Given the description of an element on the screen output the (x, y) to click on. 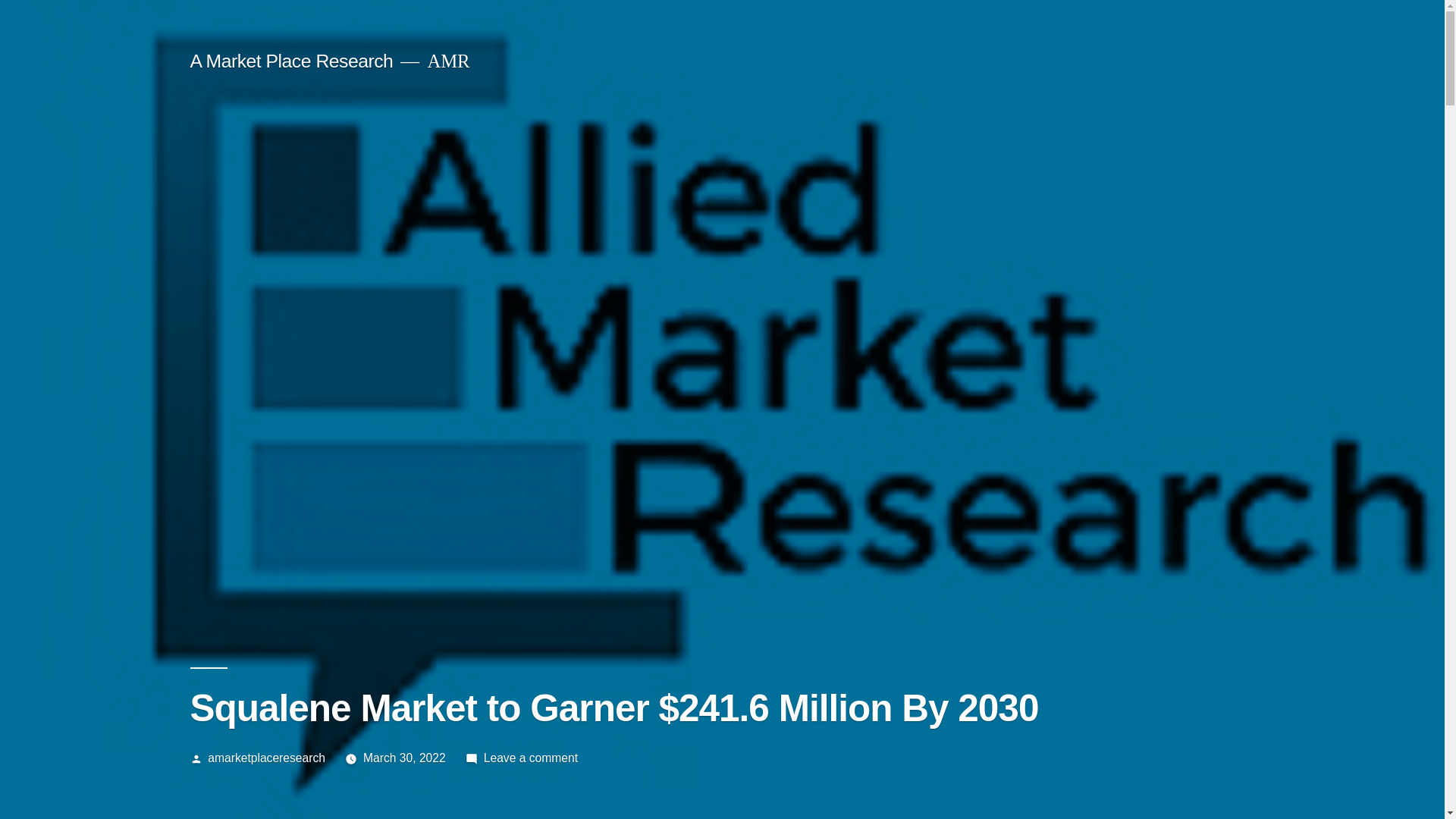
amarketplaceresearch (266, 757)
March 30, 2022 (403, 757)
A Market Place Research (291, 60)
